Given the description of an element on the screen output the (x, y) to click on. 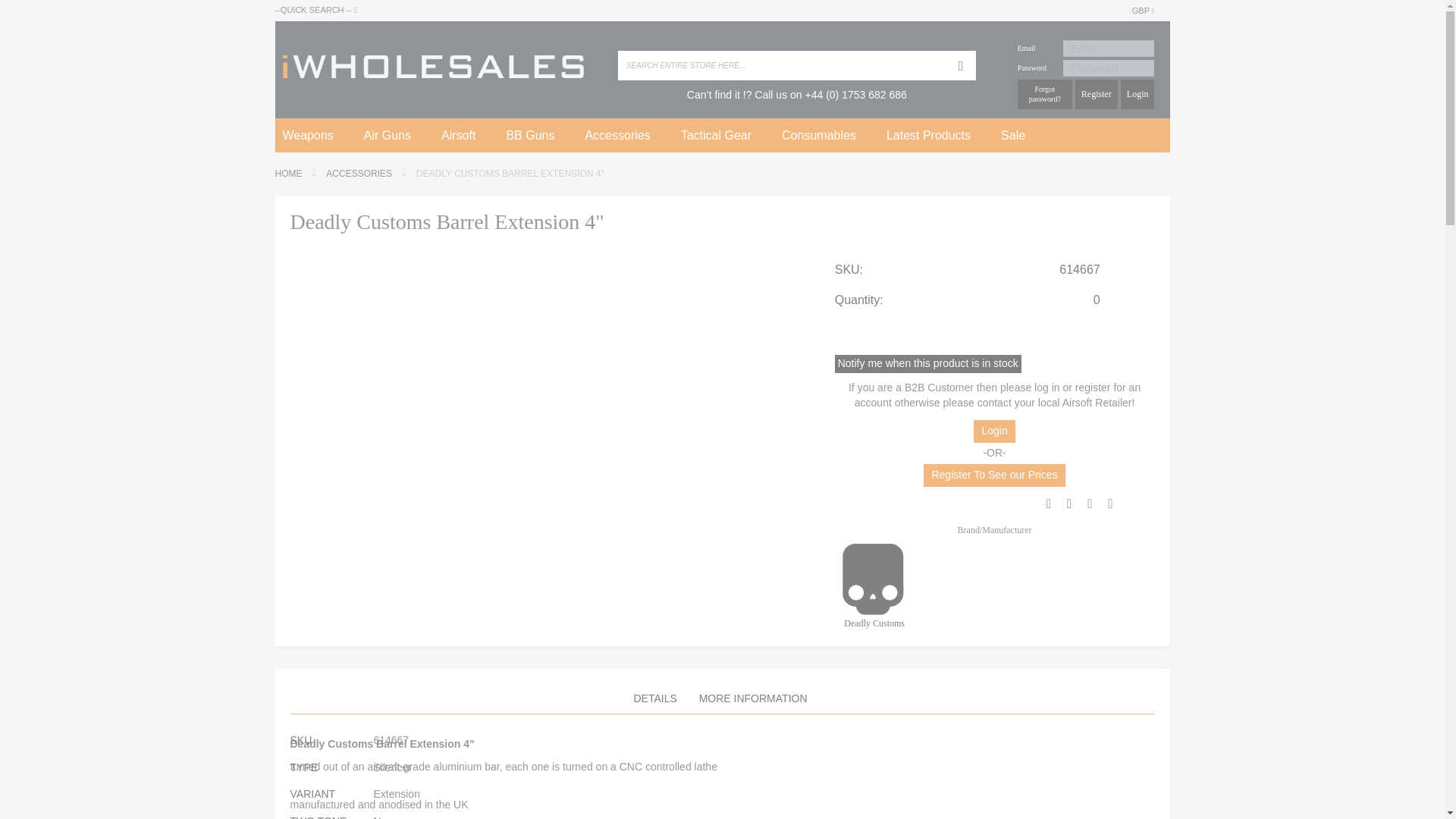
Notify me when this product is in stock (927, 363)
Search (960, 65)
Register (1096, 93)
Go to Home Page (289, 173)
Email (1108, 48)
Login (1137, 93)
Password (1108, 67)
Forgot password? (1044, 93)
Deadly Customs (874, 615)
Deadly Customs (872, 578)
